Given the description of an element on the screen output the (x, y) to click on. 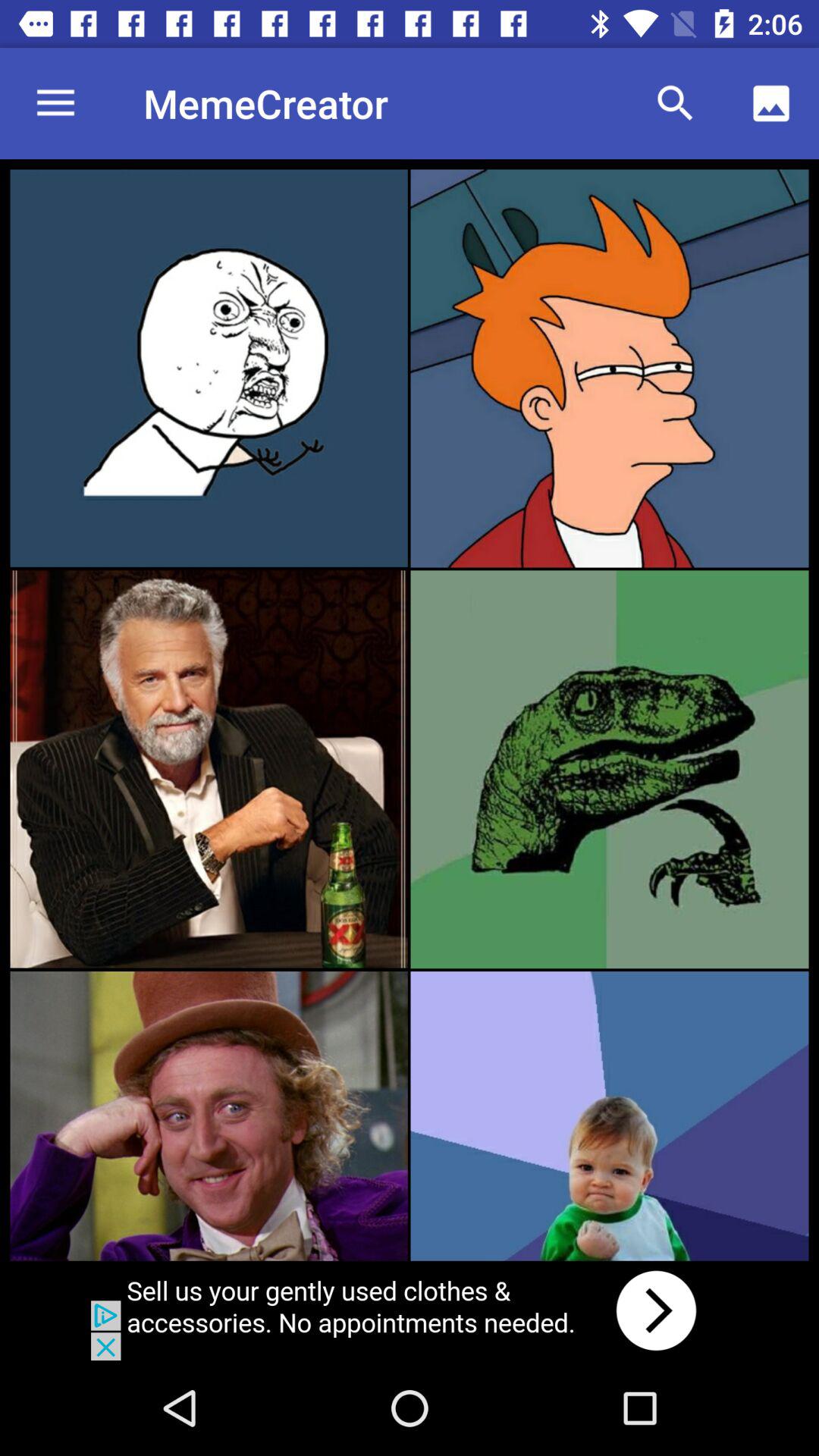
select the image (208, 769)
